Given the description of an element on the screen output the (x, y) to click on. 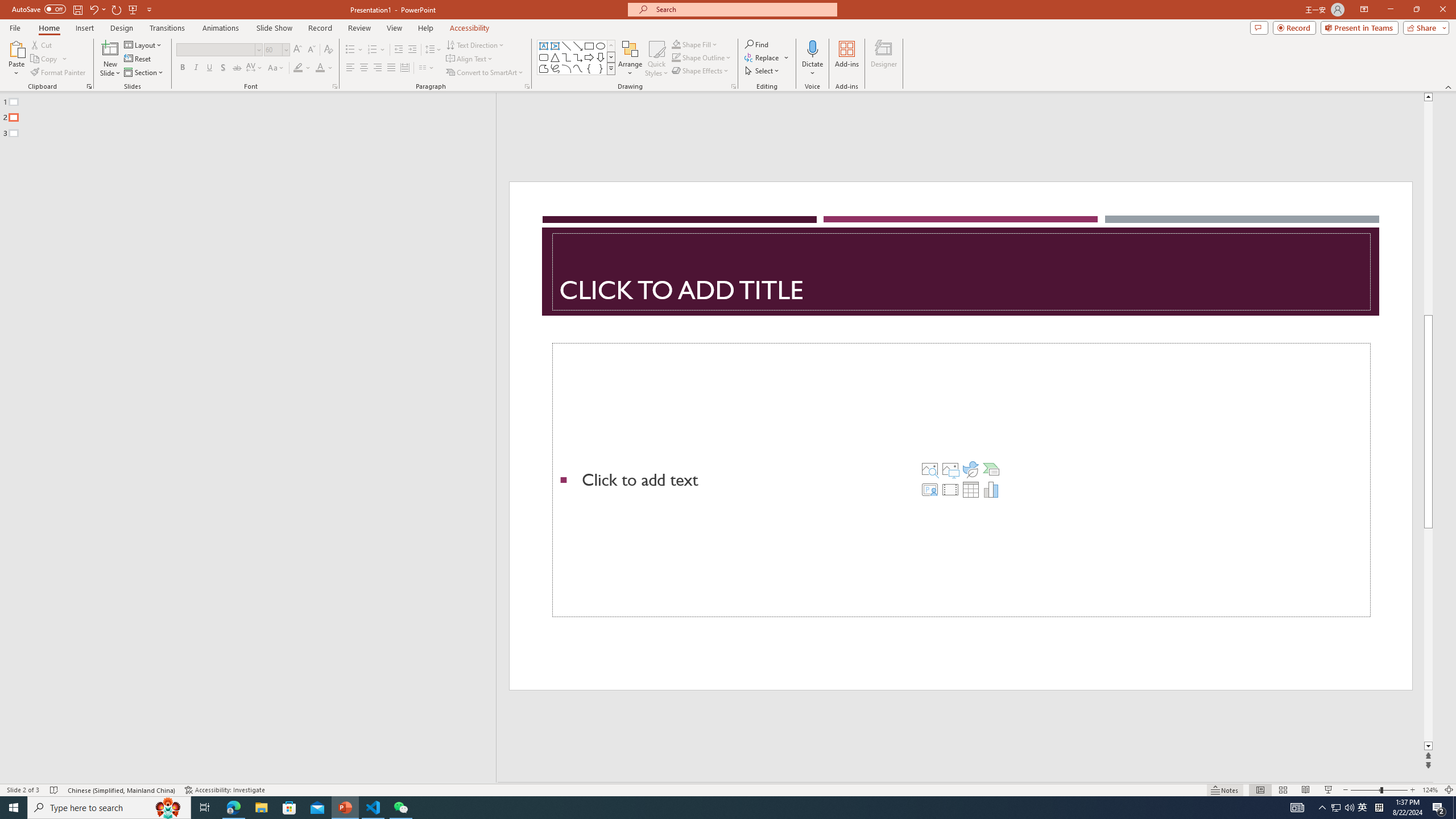
Shape Effects (700, 69)
